Given the description of an element on the screen output the (x, y) to click on. 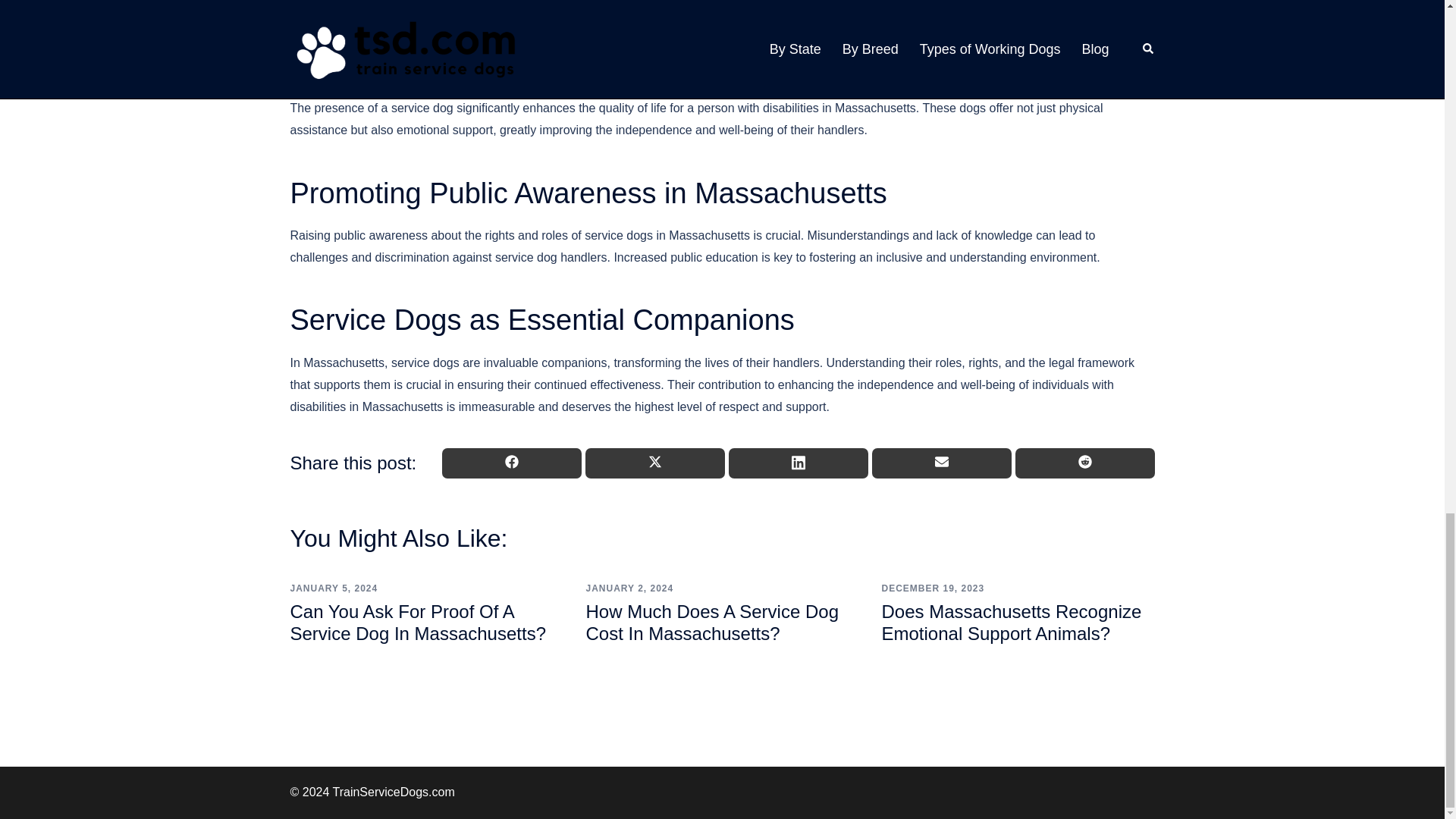
Does Massachusetts Recognize Emotional Support Animals? (1010, 622)
JANUARY 2, 2024 (628, 588)
How Much Does A Service Dog Cost In Massachusetts? (711, 622)
DECEMBER 19, 2023 (932, 588)
Can You Ask For Proof Of A Service Dog In Massachusetts? (417, 622)
JANUARY 5, 2024 (333, 588)
